Given the description of an element on the screen output the (x, y) to click on. 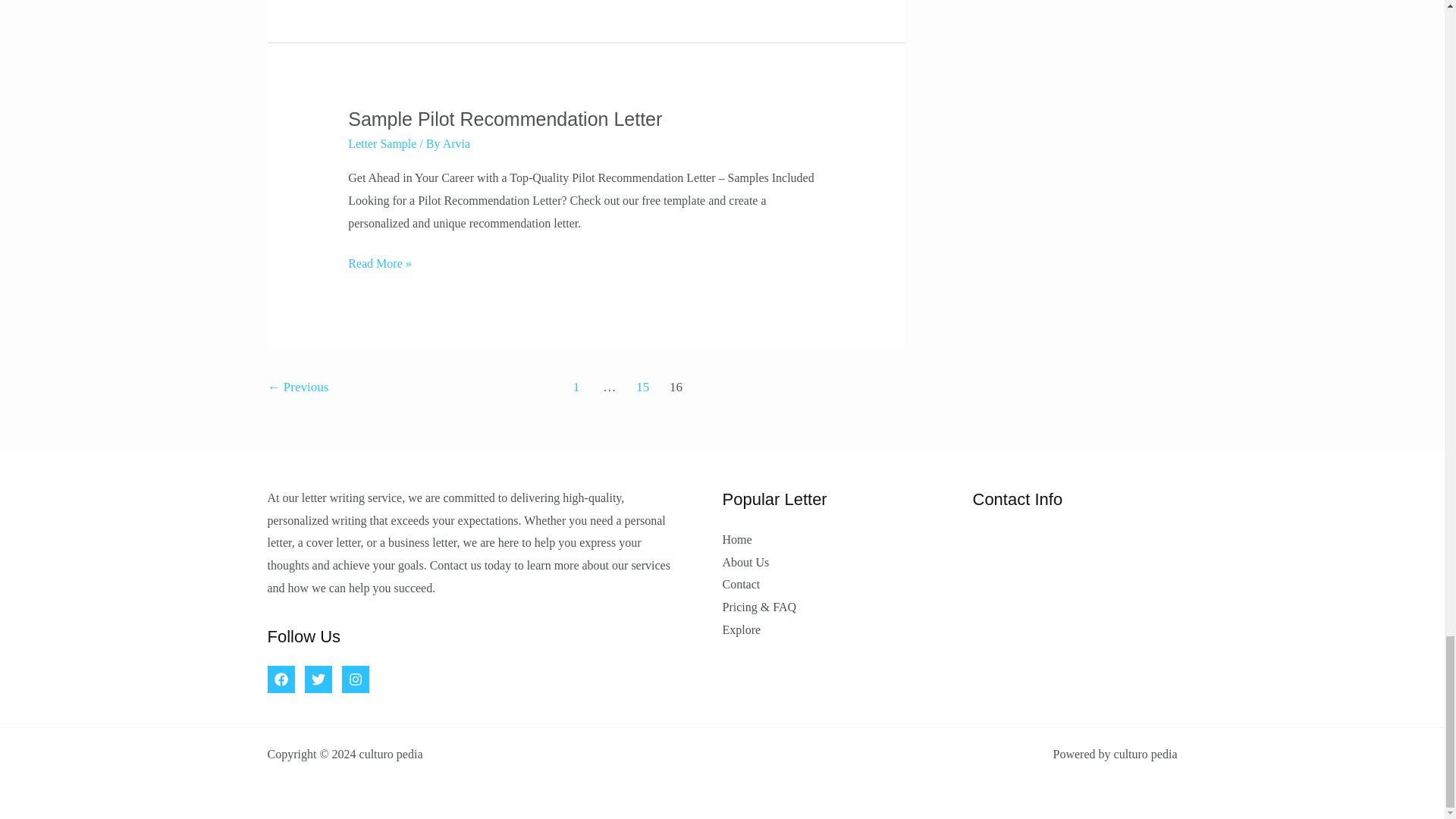
View all posts by Arvia (456, 143)
